Given the description of an element on the screen output the (x, y) to click on. 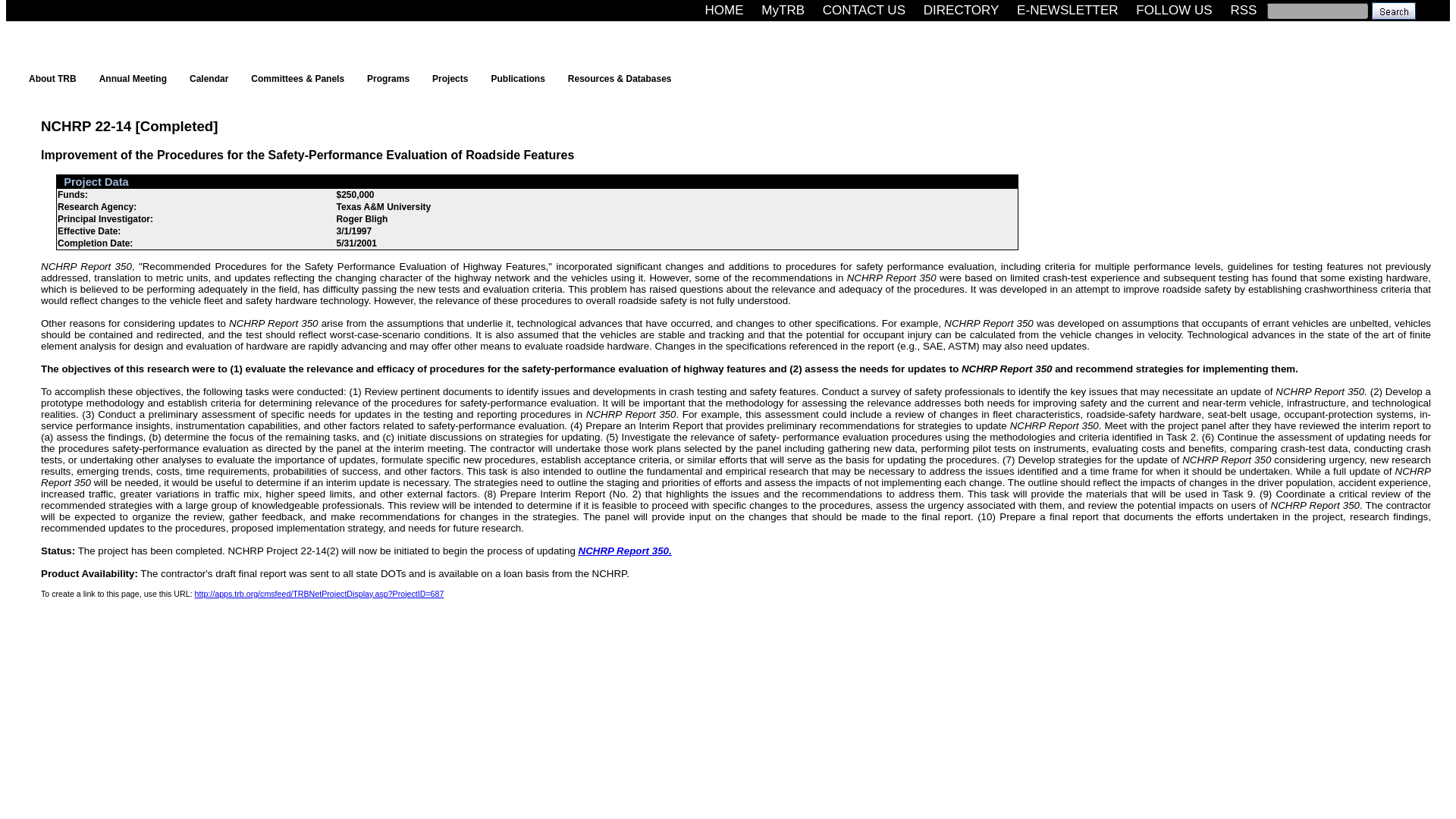
Contact Us (863, 10)
Home (724, 10)
My TRB (783, 10)
HOME (724, 10)
E-NEWSLETTER (1067, 10)
CONTACT US (863, 10)
Click to search (1393, 9)
MyTRB (783, 10)
FOLLOW US (1174, 10)
Follow Us (1174, 10)
Annual Meeting (136, 77)
Calendar (212, 77)
RSS (1243, 10)
DIRECTORY (961, 10)
